Given the description of an element on the screen output the (x, y) to click on. 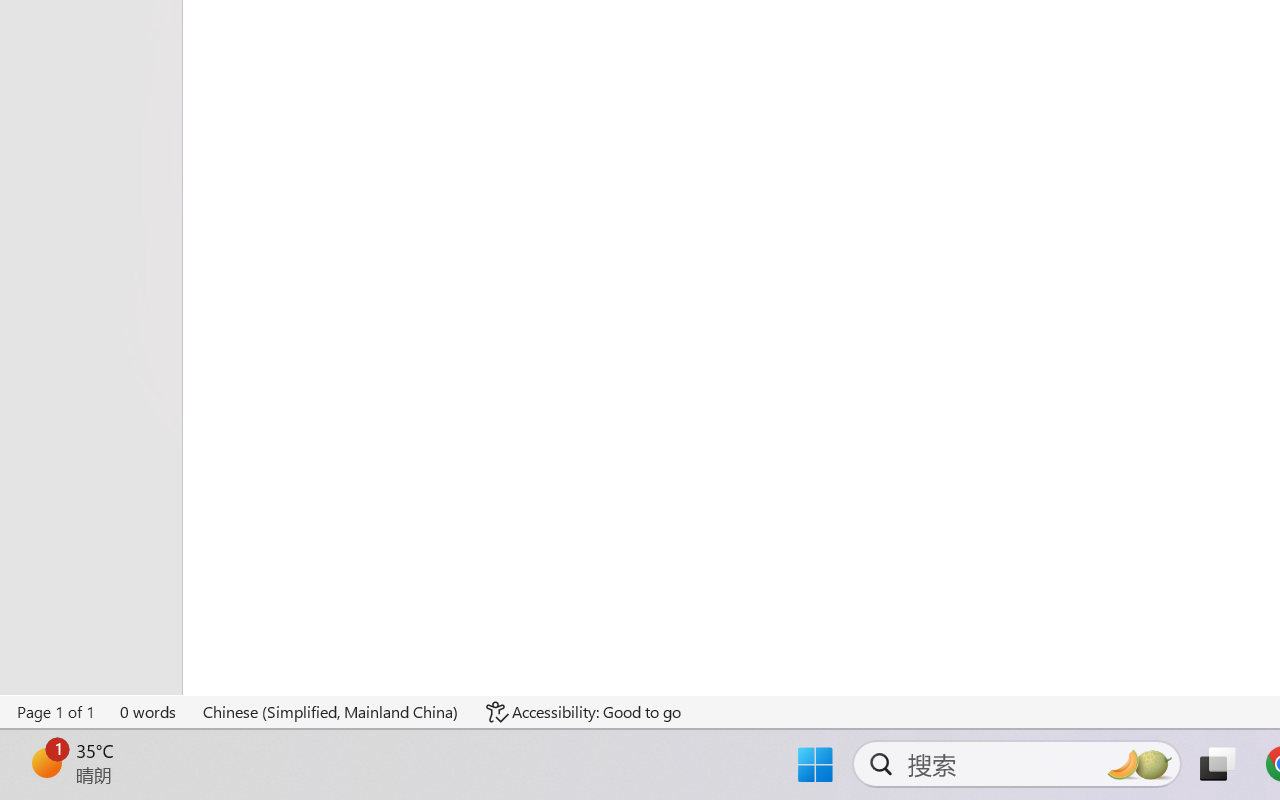
Language Chinese (Simplified, Mainland China) (331, 712)
